Given the description of an element on the screen output the (x, y) to click on. 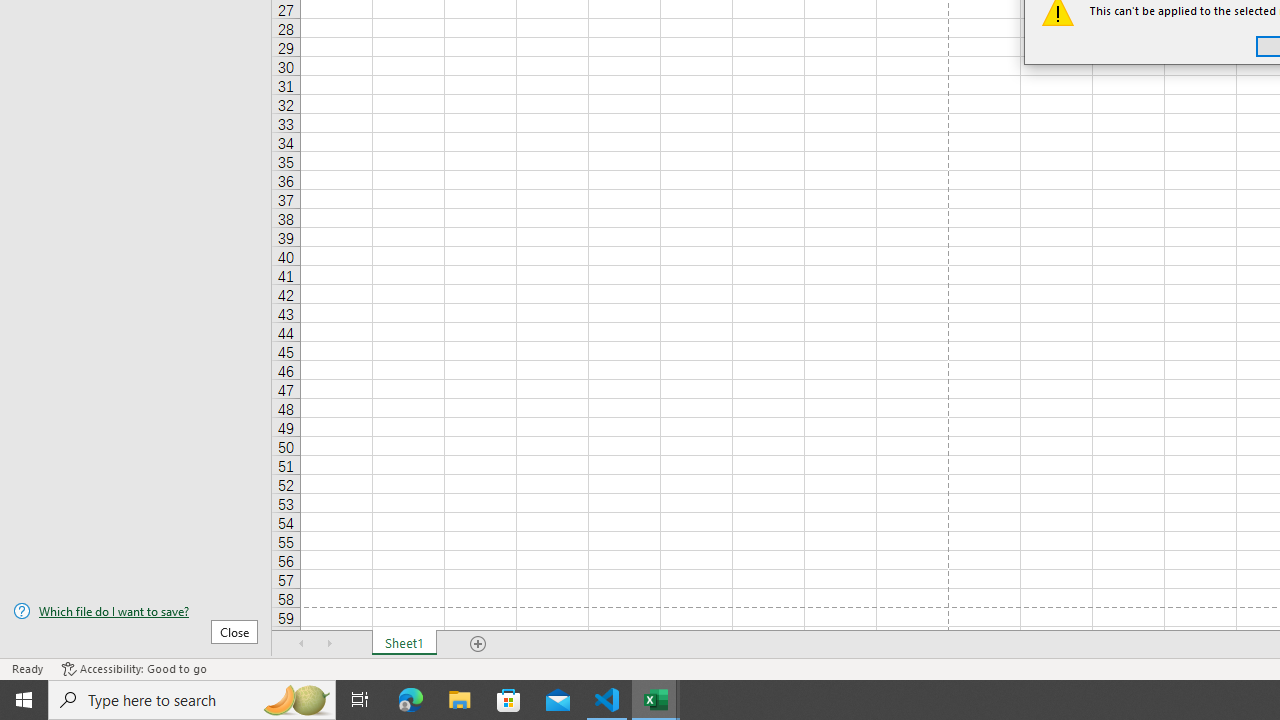
Search highlights icon opens search home window (295, 699)
